Given the description of an element on the screen output the (x, y) to click on. 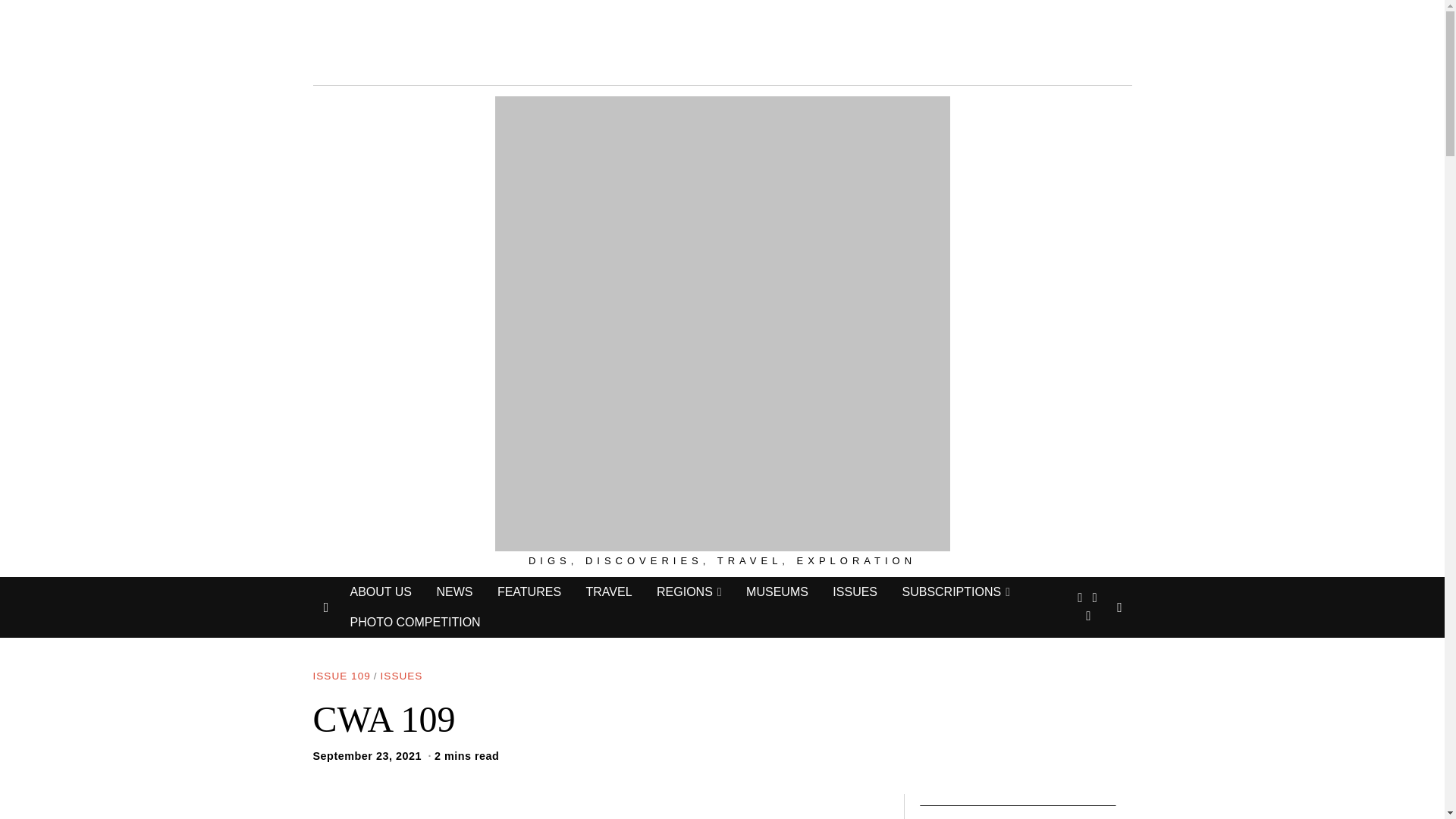
NEWS (454, 592)
ABOUT US (380, 592)
FEATURES (529, 592)
REGIONS (689, 592)
TRAVEL (608, 592)
